Given the description of an element on the screen output the (x, y) to click on. 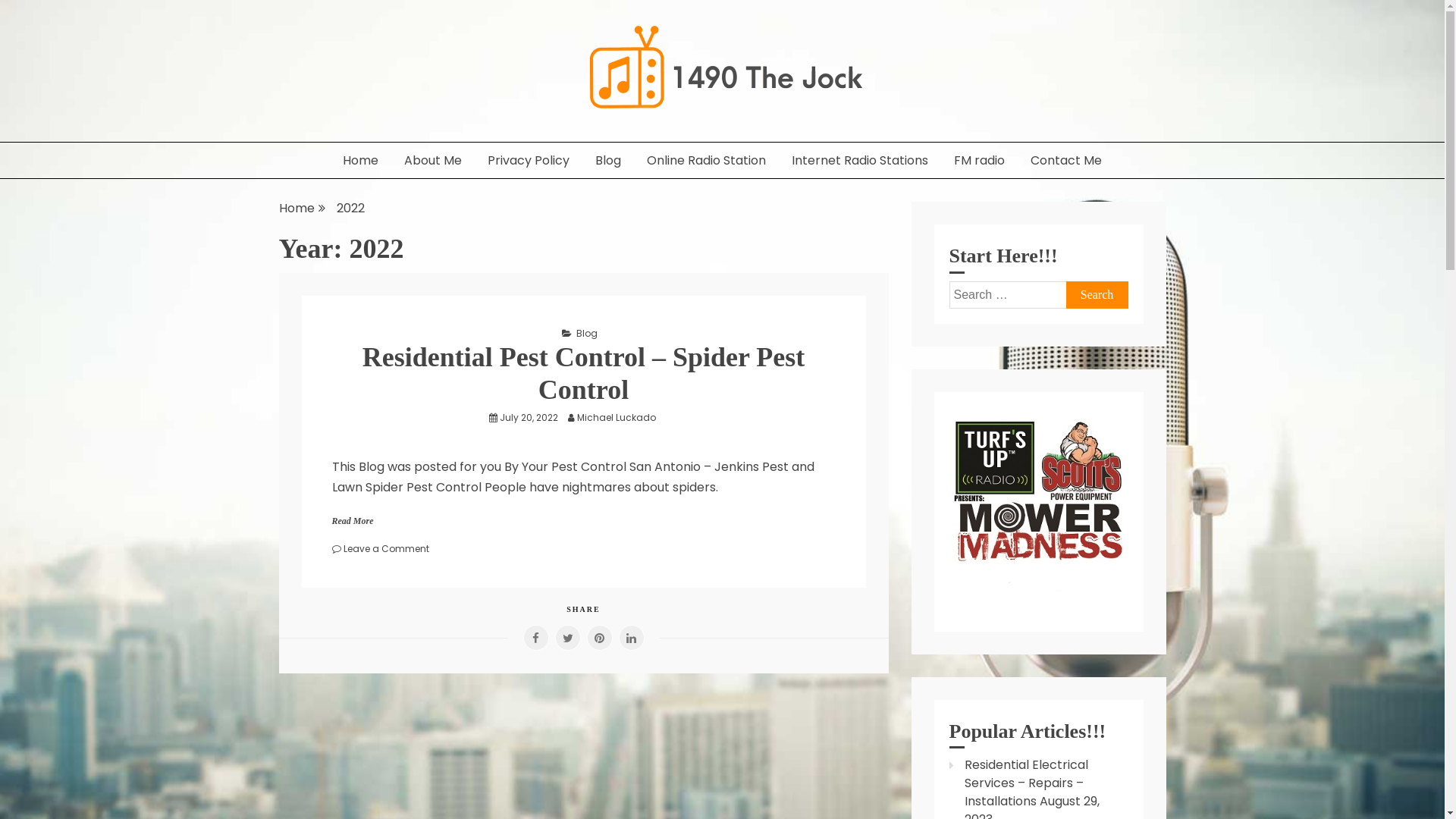
Home Element type: text (296, 207)
About Me Element type: text (432, 160)
Read More Element type: text (352, 520)
2022 Element type: text (350, 207)
Search Element type: text (1097, 294)
FM radio Element type: text (979, 160)
Michael Luckado Element type: text (619, 417)
Online Radio Station Element type: text (706, 160)
Privacy Policy Element type: text (528, 160)
Contact Me Element type: text (1066, 160)
Blog Element type: text (586, 332)
Internet Radio Stations Element type: text (859, 160)
Home Element type: text (360, 160)
July 20, 2022 Element type: text (527, 417)
1490 The Jock Element type: text (362, 134)
Blog Element type: text (607, 160)
